Given the description of an element on the screen output the (x, y) to click on. 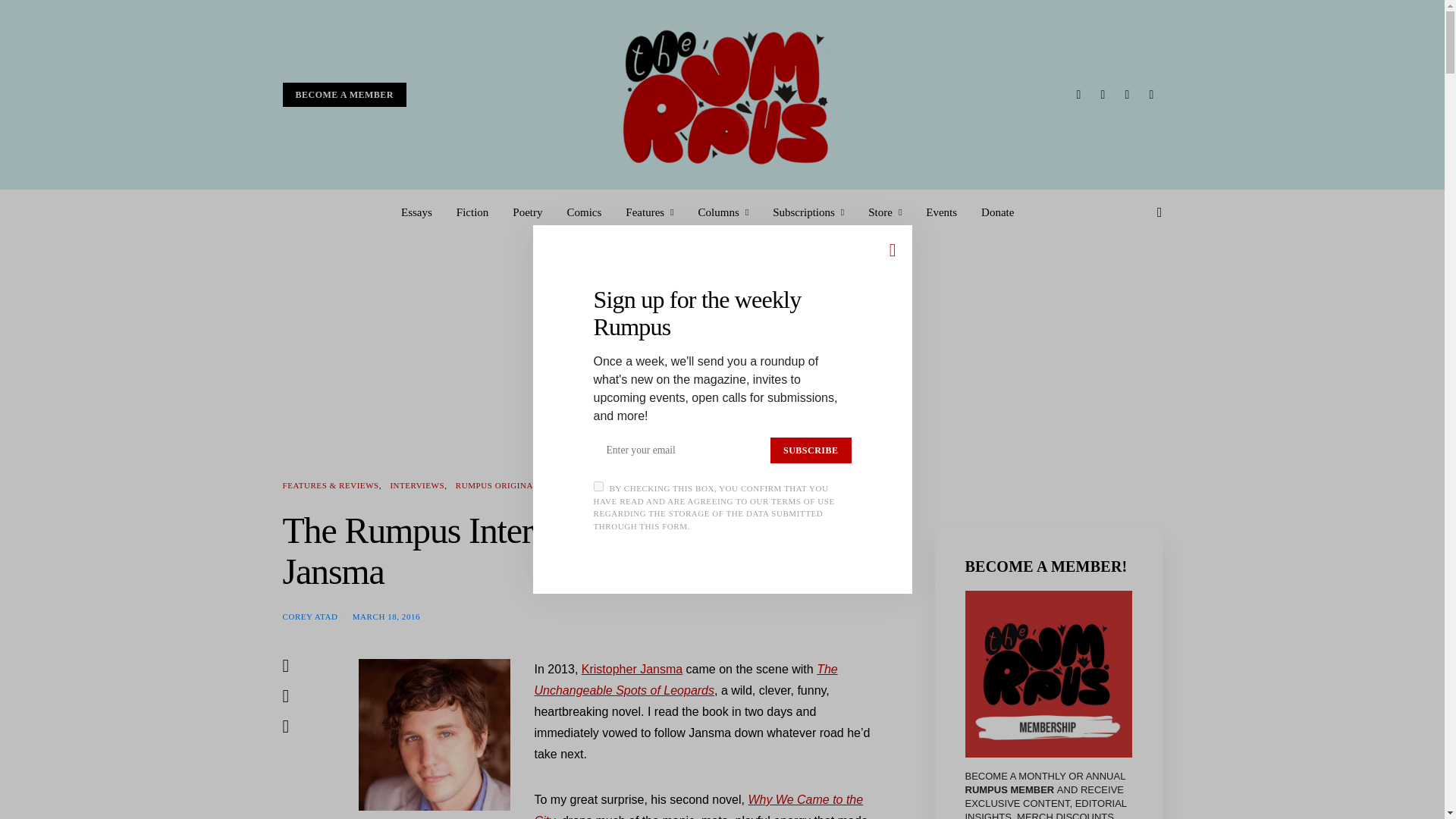
BECOME A MEMBER (344, 94)
View all posts by Corey Atad (309, 614)
on (597, 486)
